Given the description of an element on the screen output the (x, y) to click on. 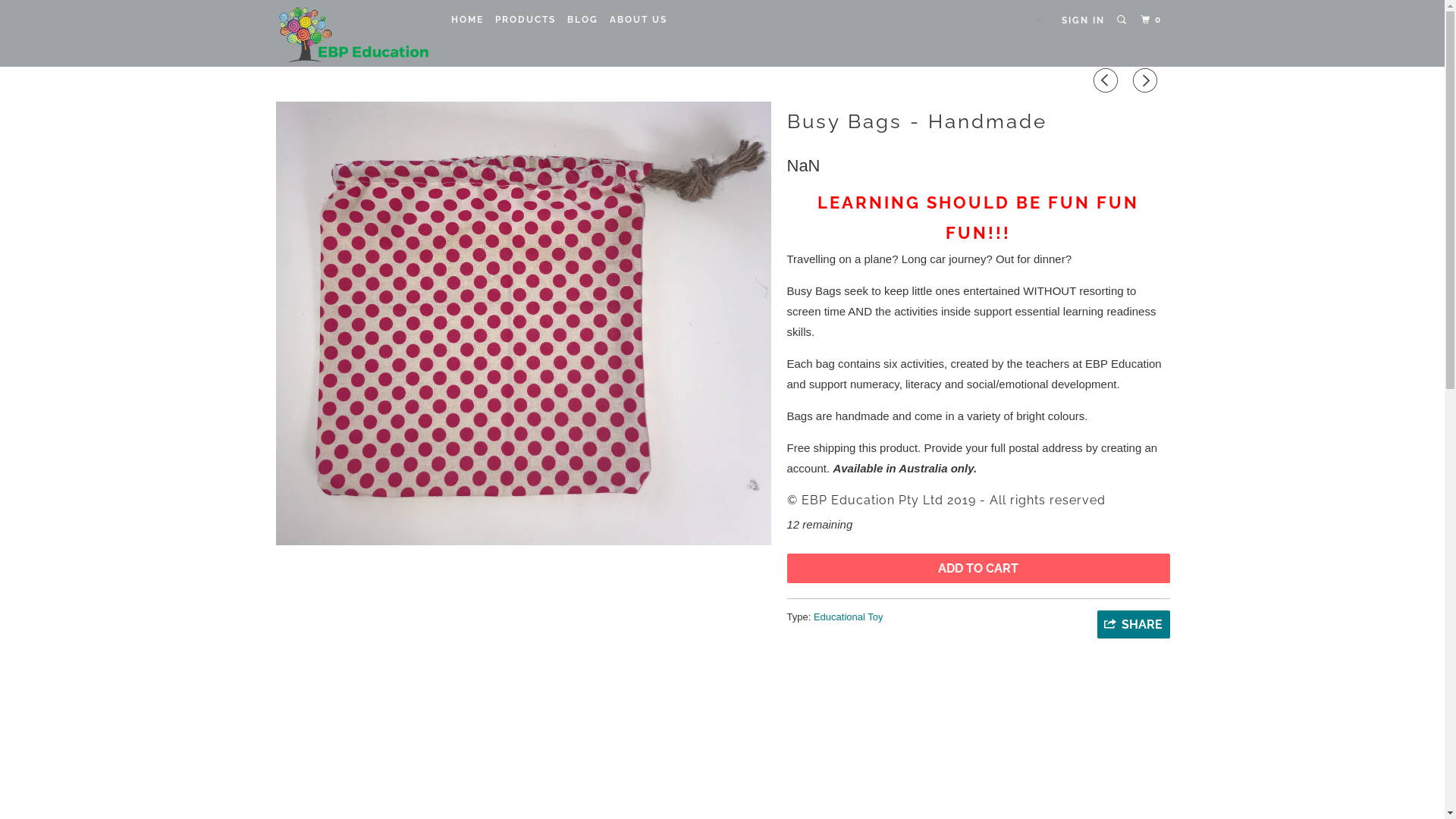
Busy Bags - Handmade Element type: hover (522, 323)
Educational Toy Element type: text (848, 616)
0 Element type: text (1152, 19)
Next Element type: hover (1146, 80)
EBP Education Element type: hover (351, 32)
SIGN IN Element type: text (1082, 20)
Previous Element type: hover (1107, 80)
BLOG Element type: text (582, 19)
PRODUCTS Element type: text (525, 19)
ADD TO CART Element type: text (978, 568)
ABOUT US Element type: text (638, 19)
HOME Element type: text (466, 19)
Search Element type: hover (1122, 19)
